Given the description of an element on the screen output the (x, y) to click on. 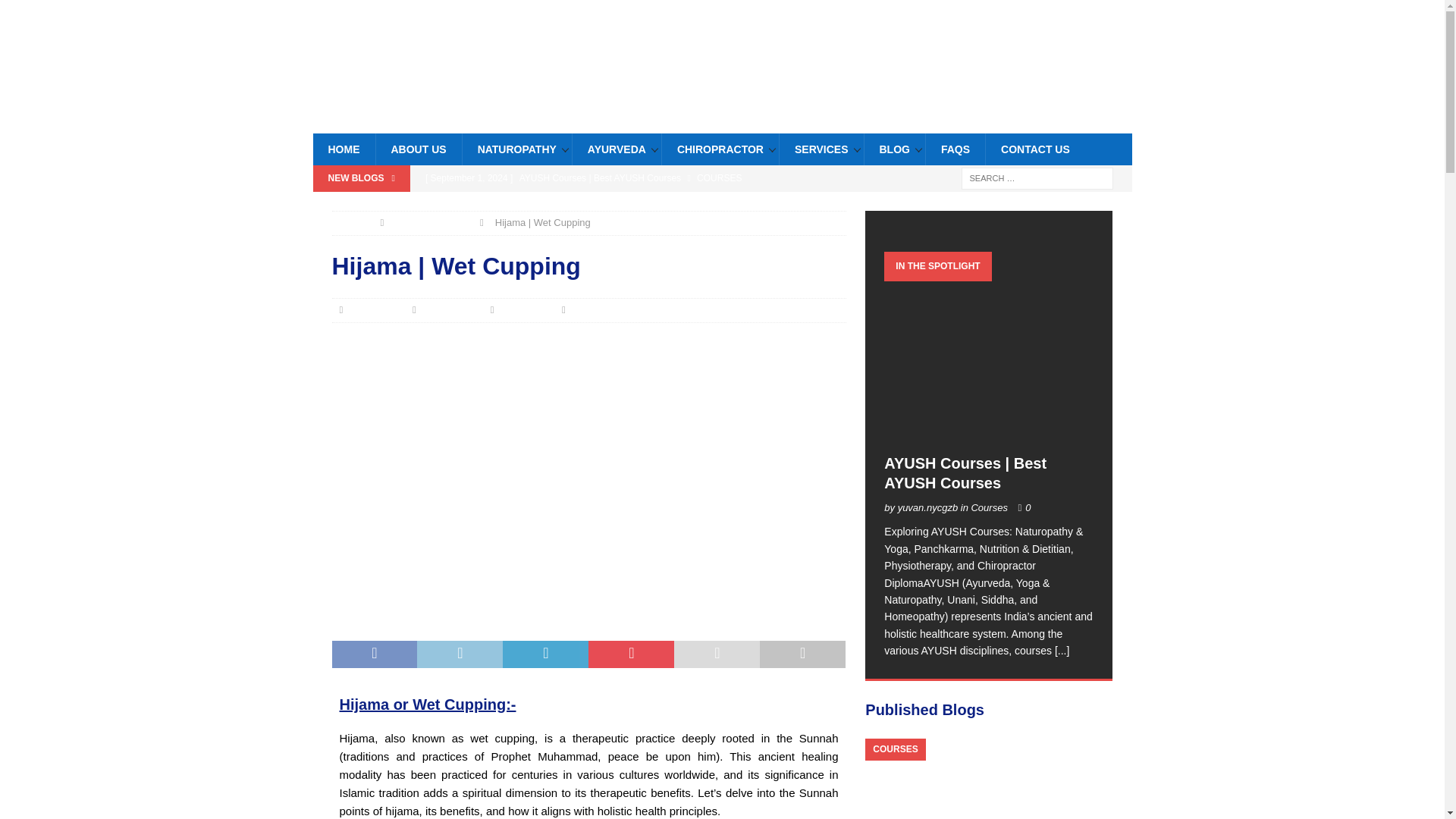
HOME (343, 149)
SERVICES (820, 149)
ABOUT US (417, 149)
BLOG (893, 149)
CHIROPRACTOR (719, 149)
NATUROPATHY (516, 149)
AYURVEDA (616, 149)
Paramedical Courses (631, 203)
